Given the description of an element on the screen output the (x, y) to click on. 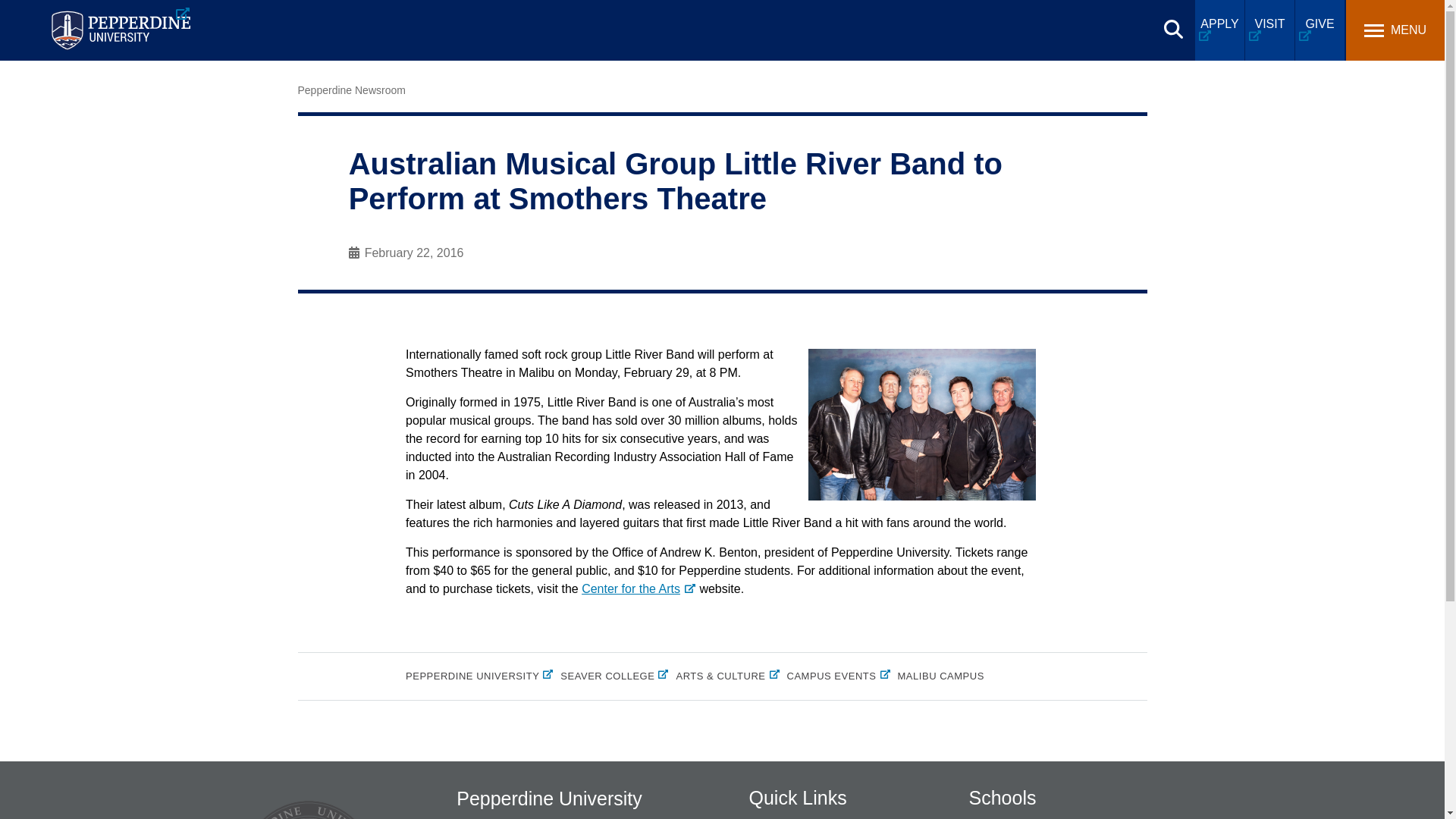
Pepperdine University (120, 30)
Submit (476, 19)
Link to External Site (637, 588)
Link to External Site (1017, 816)
open search (1173, 28)
